Given the description of an element on the screen output the (x, y) to click on. 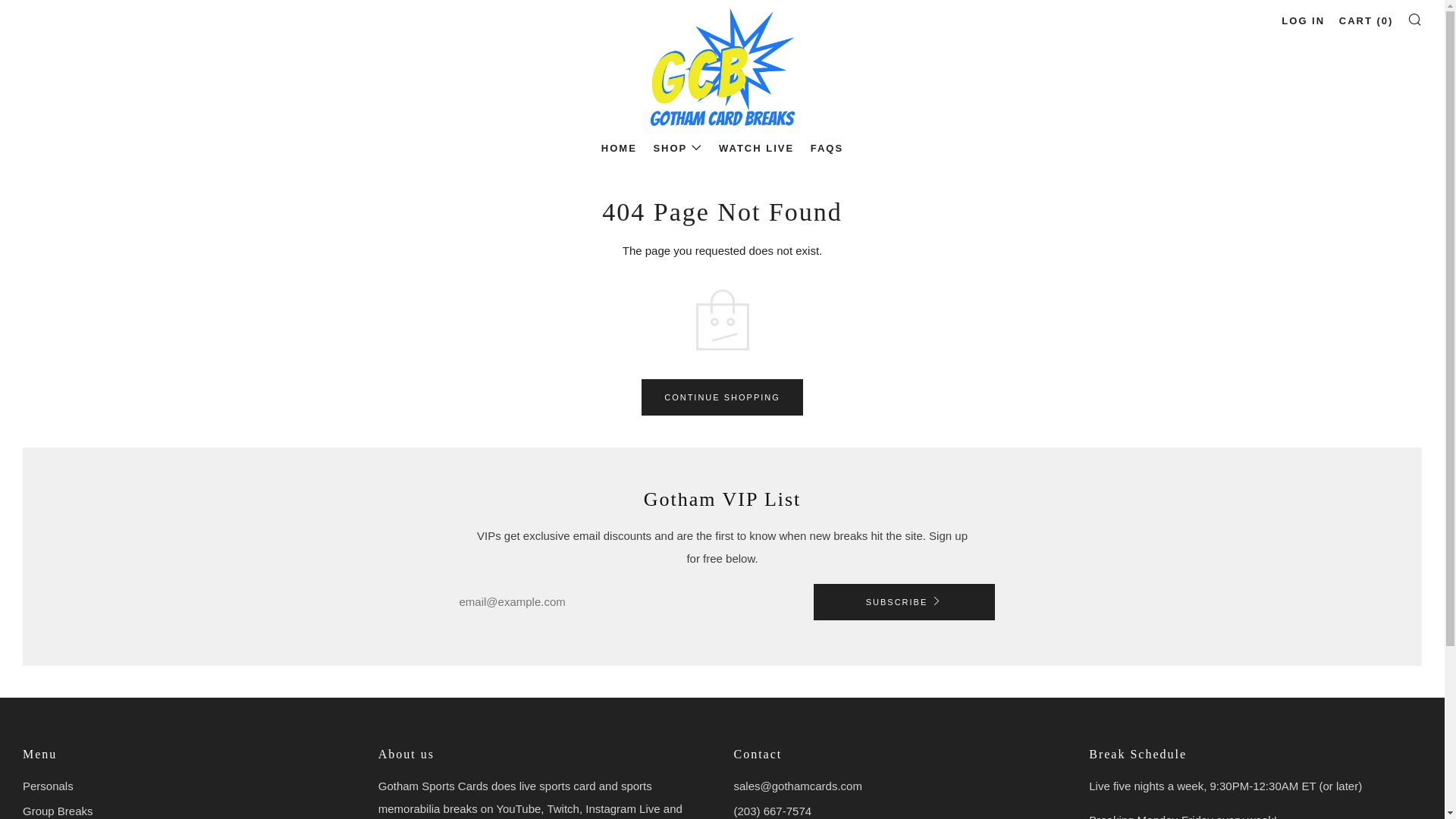
FAQS (826, 148)
SHOP (676, 148)
Personals (48, 785)
WATCH LIVE (756, 148)
SUBSCRIBE (903, 601)
HOME (619, 148)
LOG IN (1302, 21)
SEARCH (1414, 18)
CONTINUE SHOPPING (722, 397)
Group Breaks (58, 810)
